Given the description of an element on the screen output the (x, y) to click on. 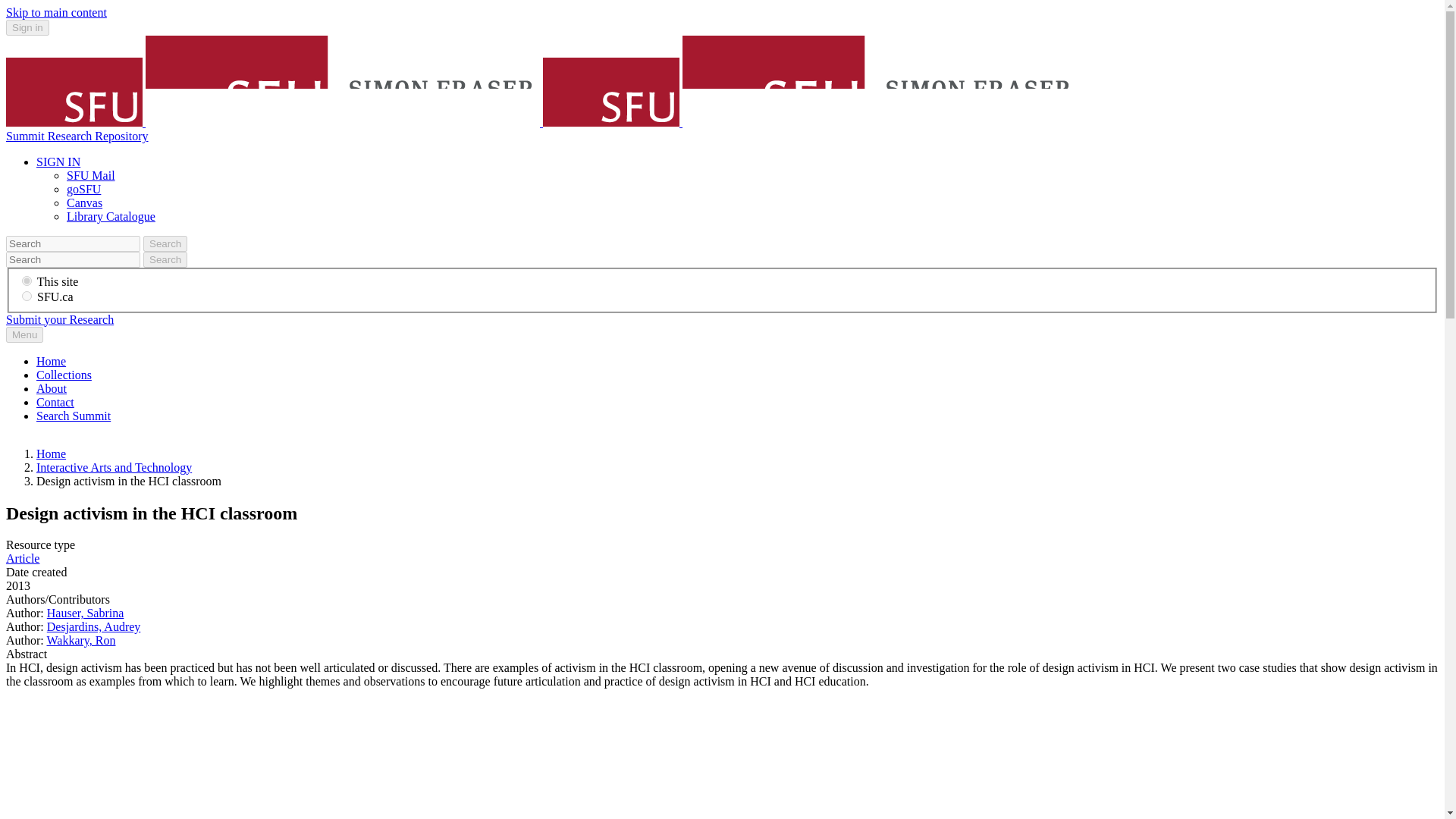
Interactive Arts and Technology (114, 467)
Desjardins, Audrey (93, 626)
Contact details (55, 401)
Skip to main content (55, 11)
Collections (63, 374)
SFU Mail (90, 174)
Menu (24, 334)
navbar-staff (26, 280)
Search (164, 243)
Homepage for SFU Summit website (50, 360)
